Given the description of an element on the screen output the (x, y) to click on. 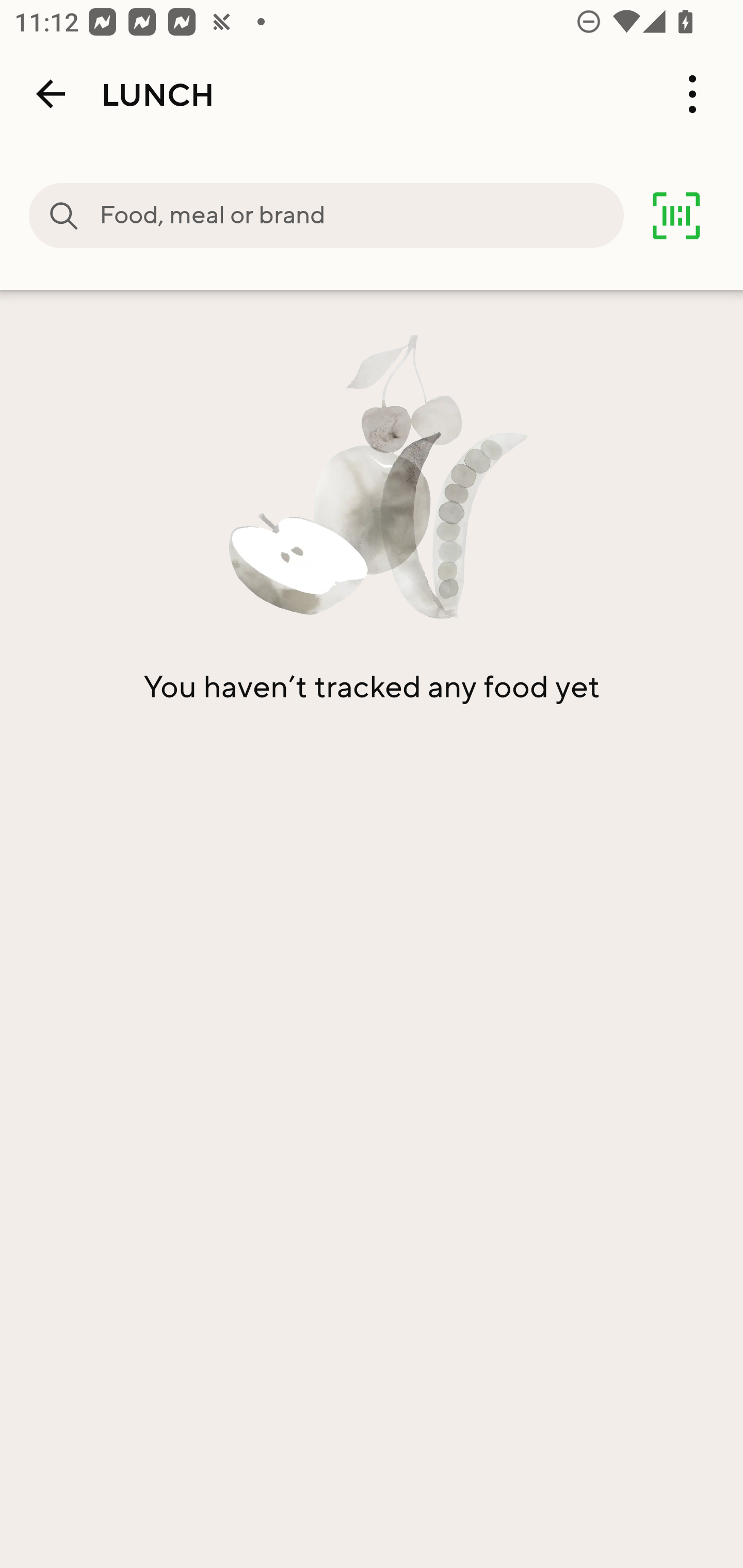
Back (50, 93)
Food, meal or brand (63, 215)
Food, meal or brand (361, 215)
